Given the description of an element on the screen output the (x, y) to click on. 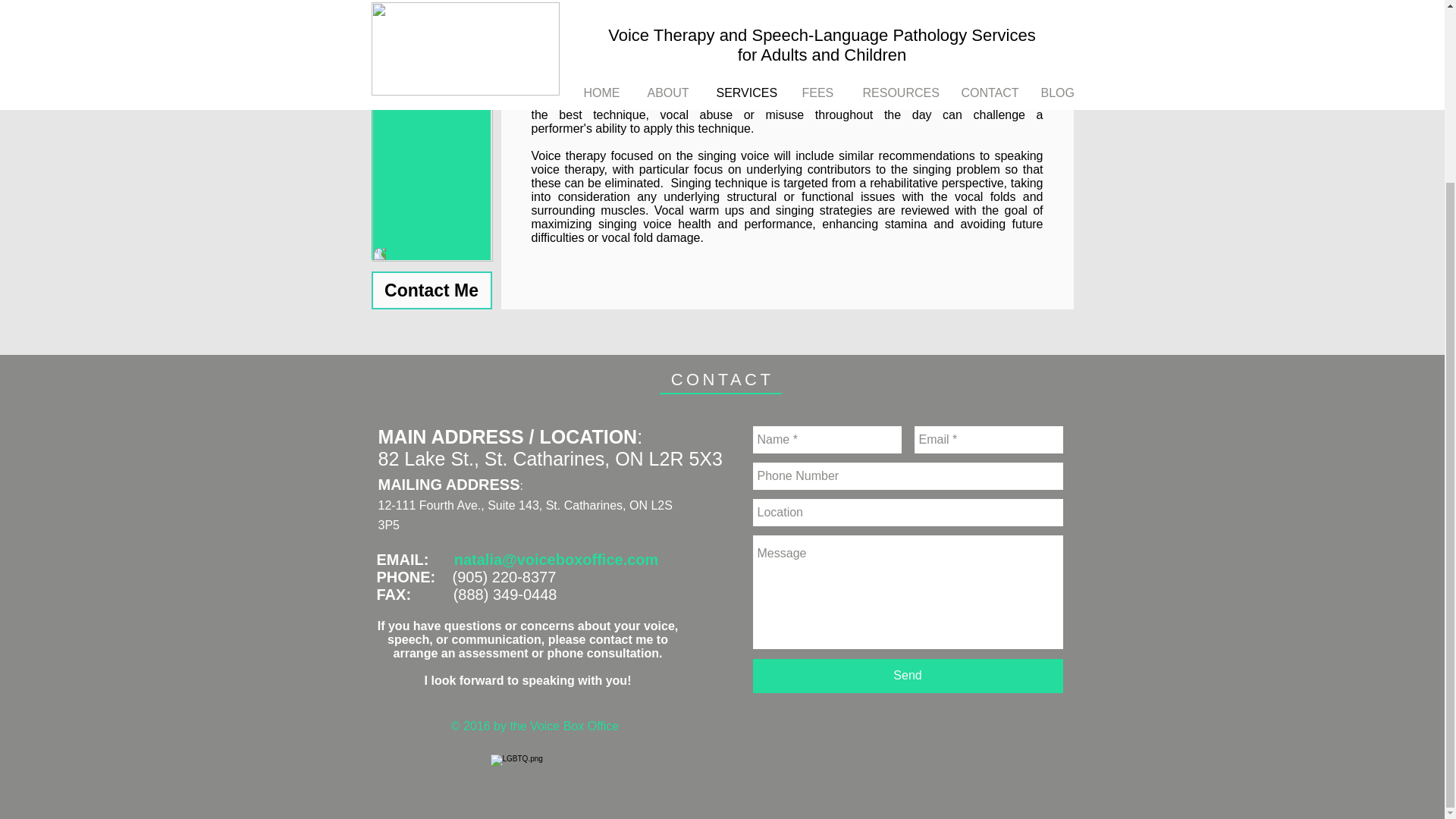
Contact Me (431, 290)
Send (907, 675)
Speech-Language Pathologist (738, 32)
